Given the description of an element on the screen output the (x, y) to click on. 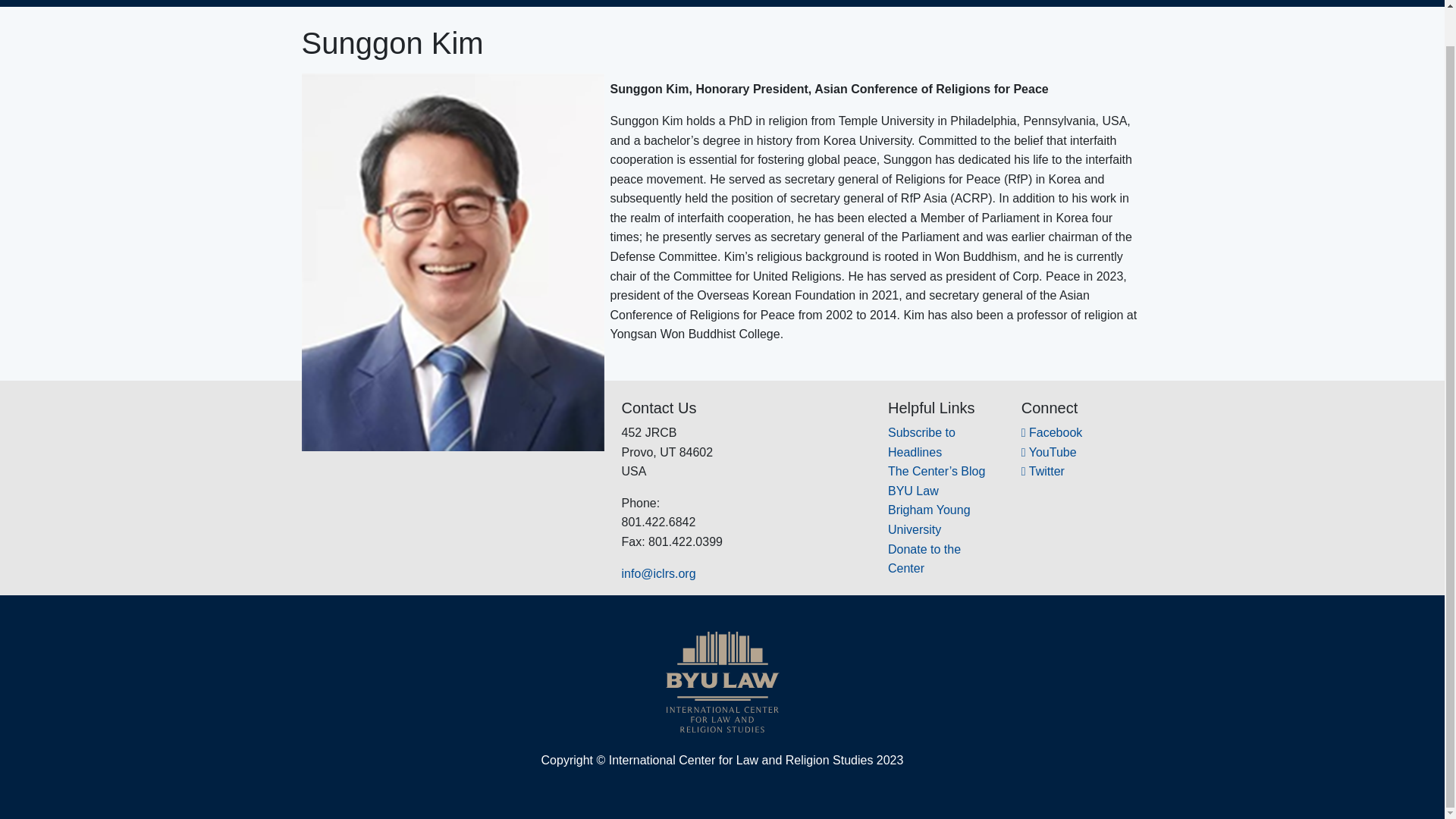
Home (790, 0)
About Us (847, 0)
Brigham Young University (929, 519)
About Us (847, 0)
Twitter (1043, 471)
YouTube (1049, 451)
Donate to the Center (924, 558)
Facebook (1052, 431)
Home (790, 0)
Events (912, 0)
Headlines (1054, 0)
